Given the description of an element on the screen output the (x, y) to click on. 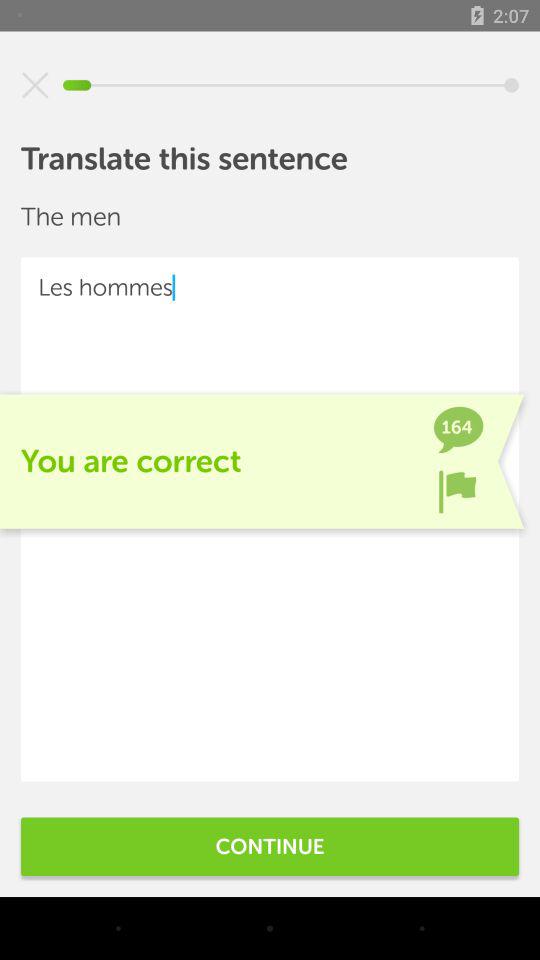
tap the icon at the center (270, 519)
